Given the description of an element on the screen output the (x, y) to click on. 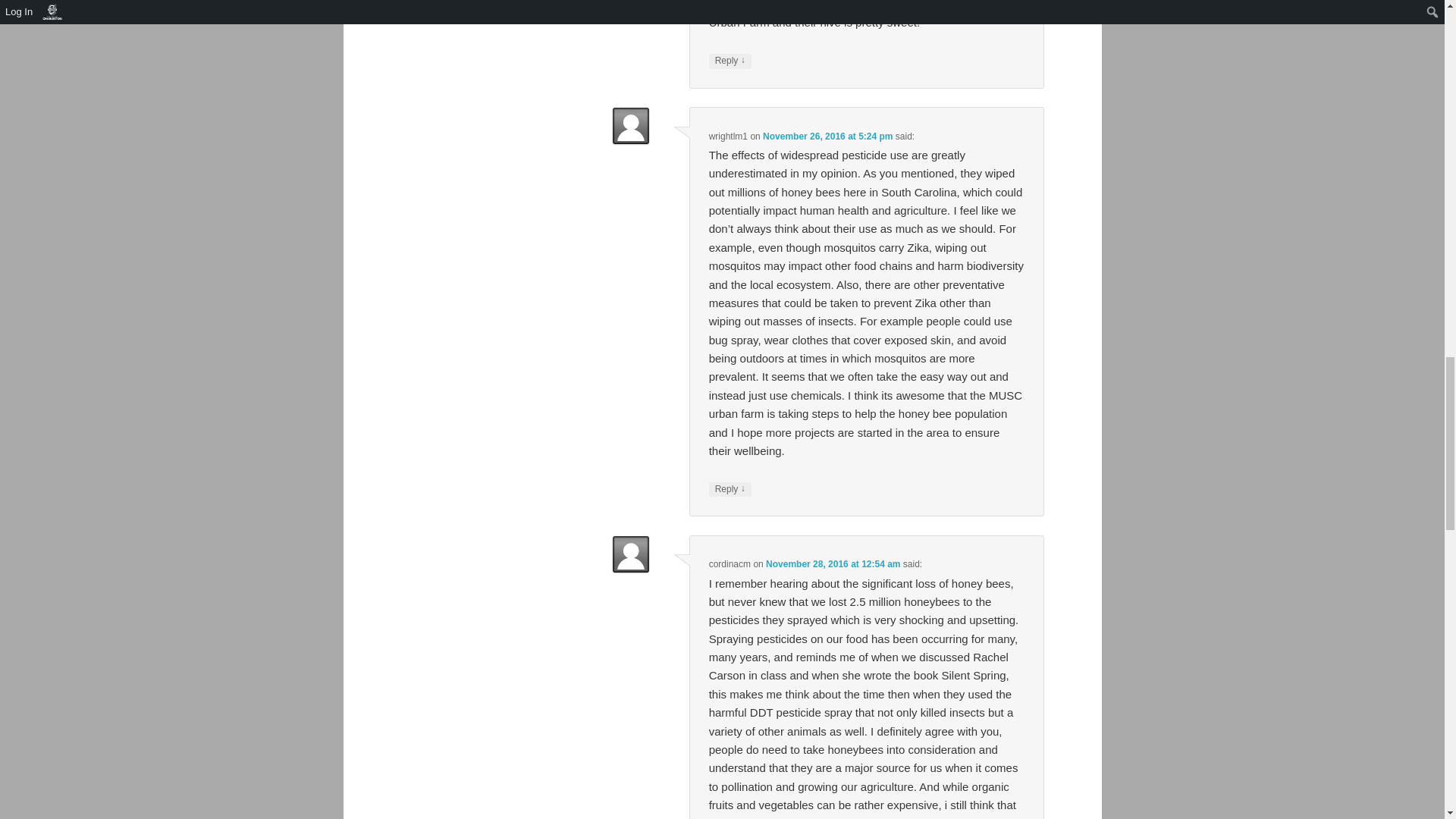
November 28, 2016 at 12:54 am (832, 563)
November 26, 2016 at 5:24 pm (827, 136)
